Given the description of an element on the screen output the (x, y) to click on. 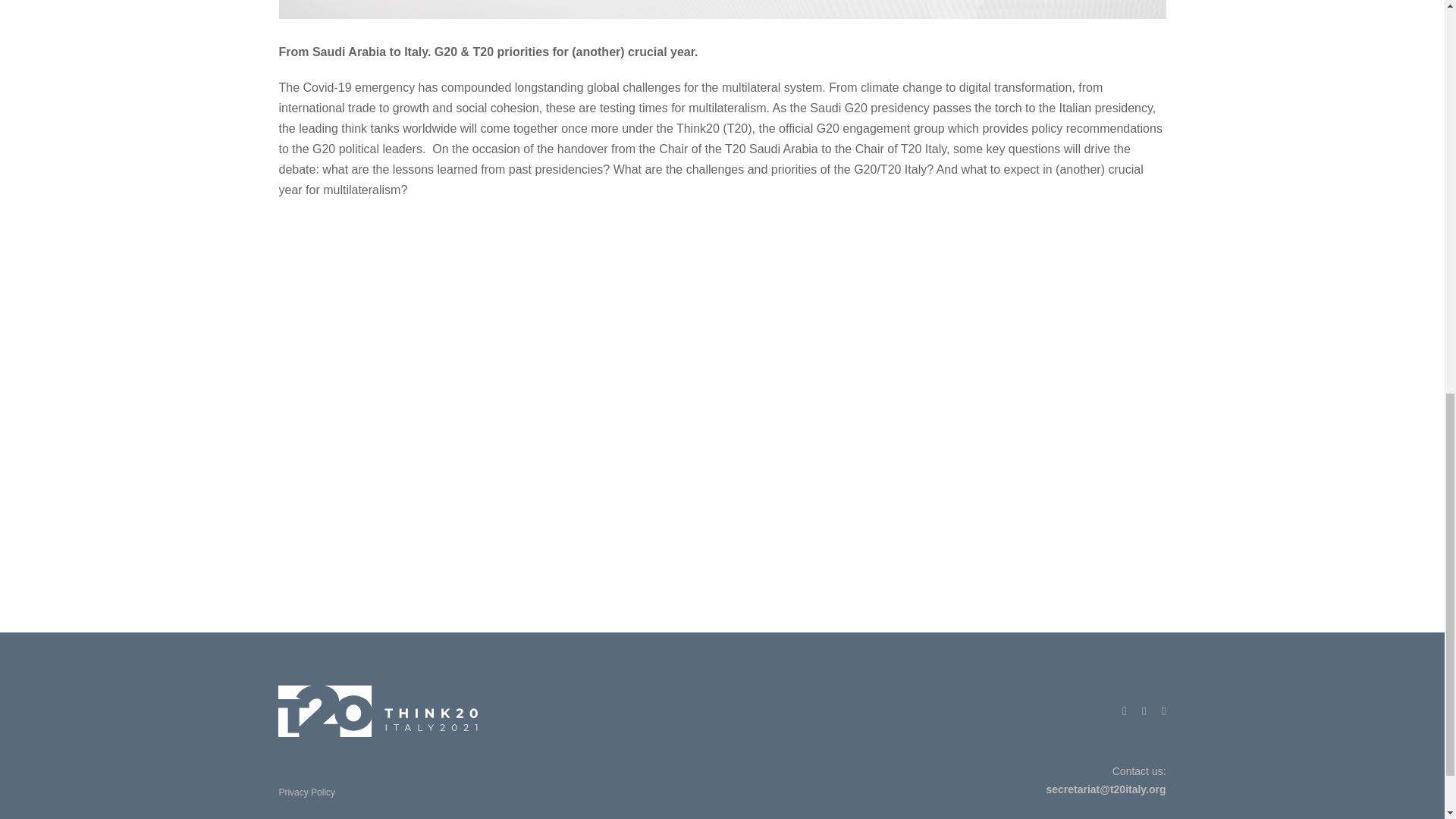
View Larger Image (722, 9)
Privacy Policy (306, 792)
